Given the description of an element on the screen output the (x, y) to click on. 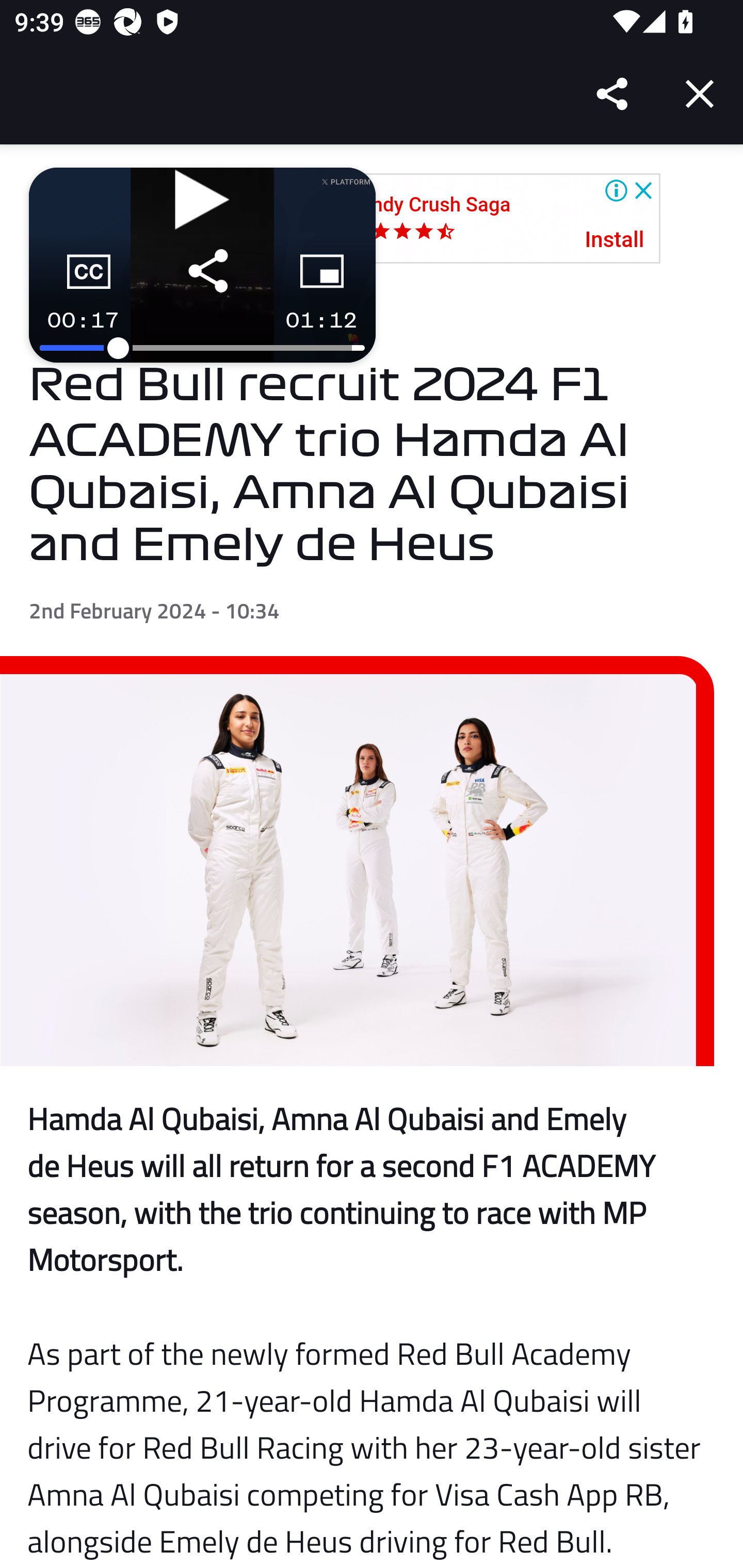
Share (612, 93)
Close (699, 93)
Install (614, 240)
